Given the description of an element on the screen output the (x, y) to click on. 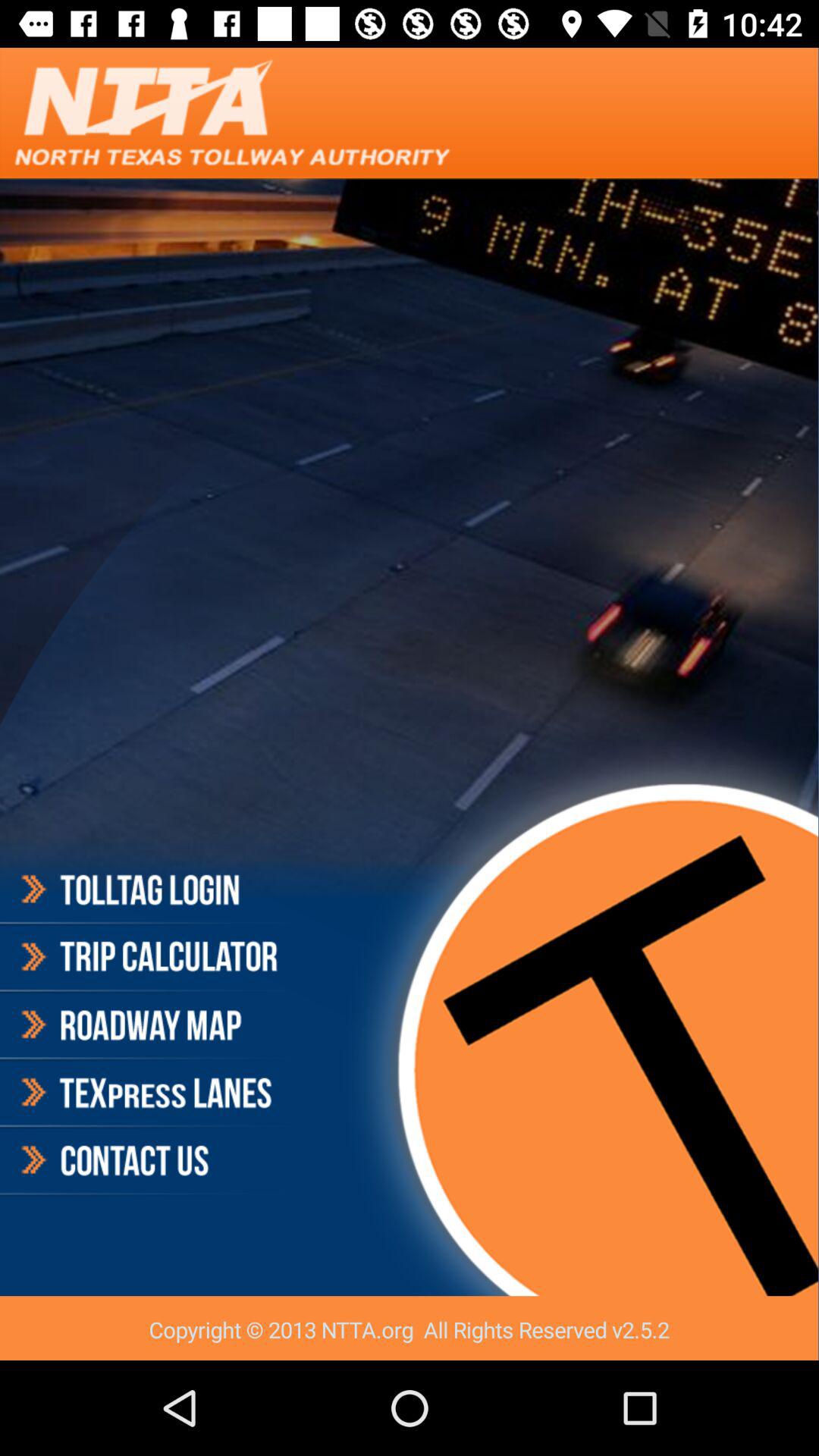
access your account (147, 891)
